Given the description of an element on the screen output the (x, y) to click on. 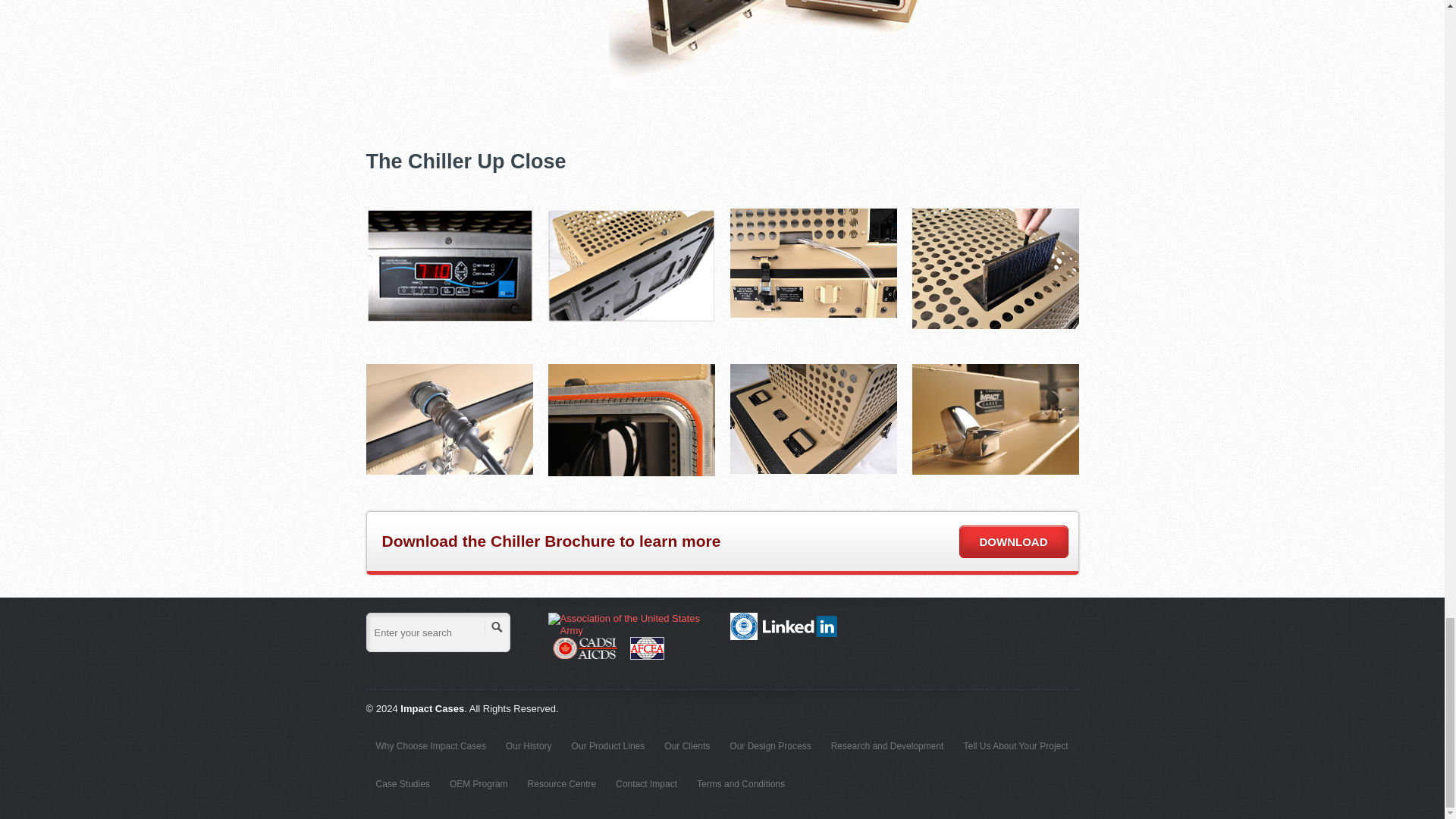
Why Choose Impact Cases (430, 746)
Our Design Process (770, 746)
Search (496, 627)
Research and Development (887, 746)
Tell Us About Your Project (1015, 746)
Our Product Lines (608, 746)
Our Clients (686, 746)
Our History (529, 746)
DOWNLOAD (1012, 541)
Search (496, 627)
